Given the description of an element on the screen output the (x, y) to click on. 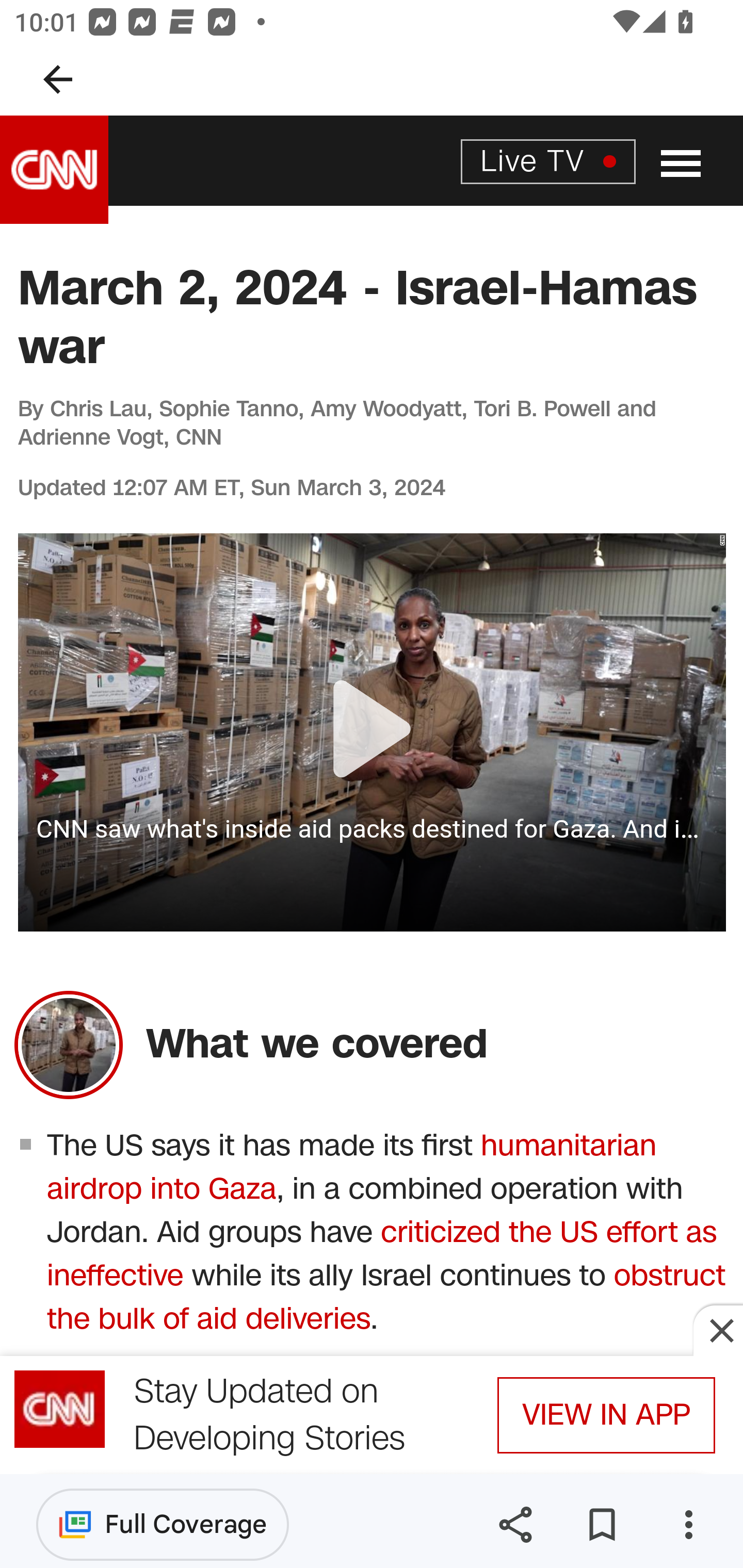
Navigate up (57, 79)
www.cnn (54, 170)
Live TV  (547, 160)
Play (372, 731)
humanitarian airdrop into Gaza (351, 1167)
criticized the US effort as ineffective (382, 1254)
obstruct the bulk of aid deliveries (385, 1297)
Dismiss (718, 1330)
VIEW IN APP (606, 1415)
Share (514, 1524)
Save for later (601, 1524)
More options (688, 1524)
Full Coverage (162, 1524)
